Given the description of an element on the screen output the (x, y) to click on. 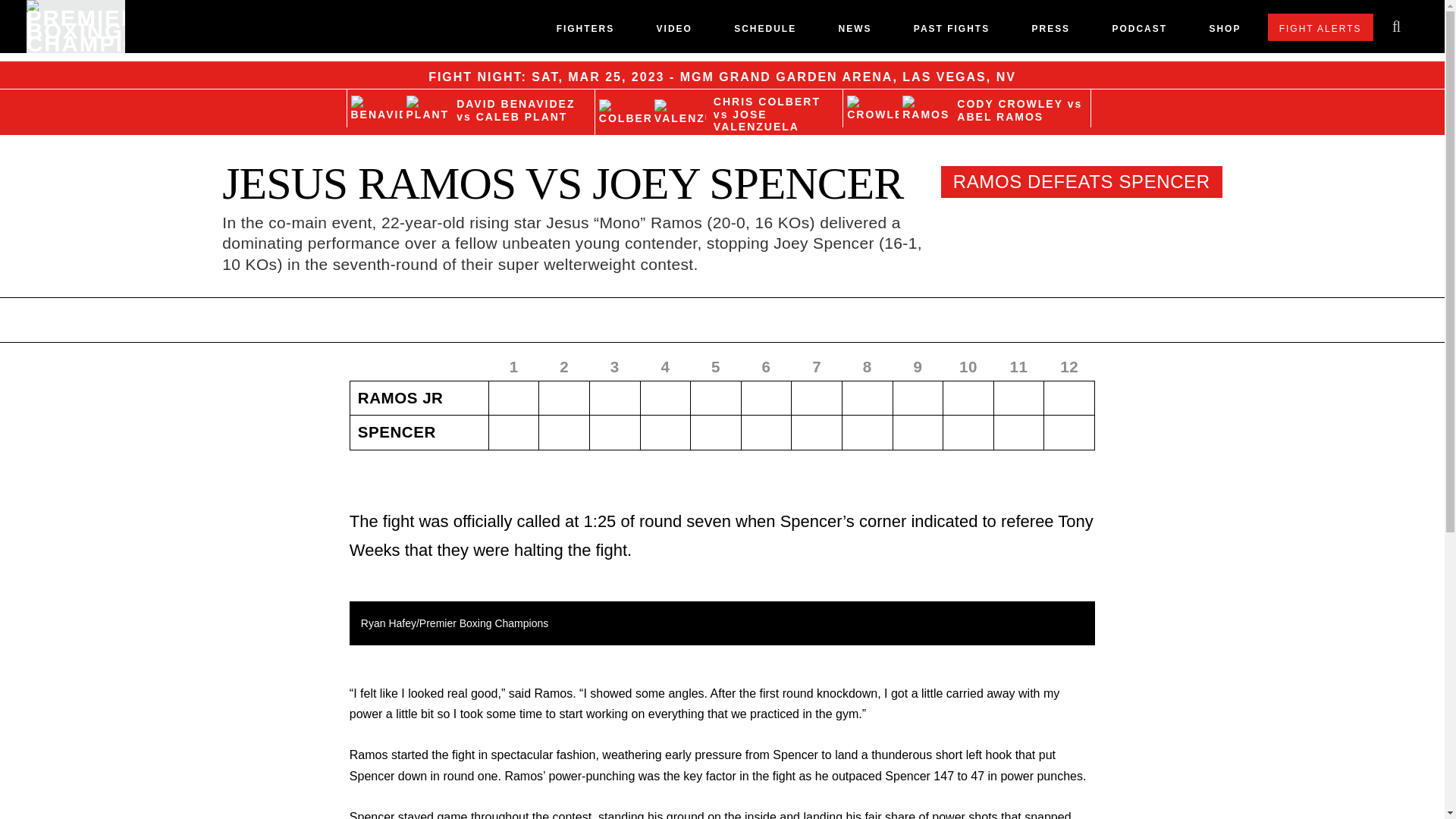
March (583, 76)
SCHEDULE (764, 31)
versus (1075, 103)
FIGHT ALERTS (1320, 27)
PRESS (1050, 31)
SHOP (1224, 31)
NEWS (854, 31)
PAST FIGHTS (952, 31)
versus (721, 114)
versus (464, 116)
